Given the description of an element on the screen output the (x, y) to click on. 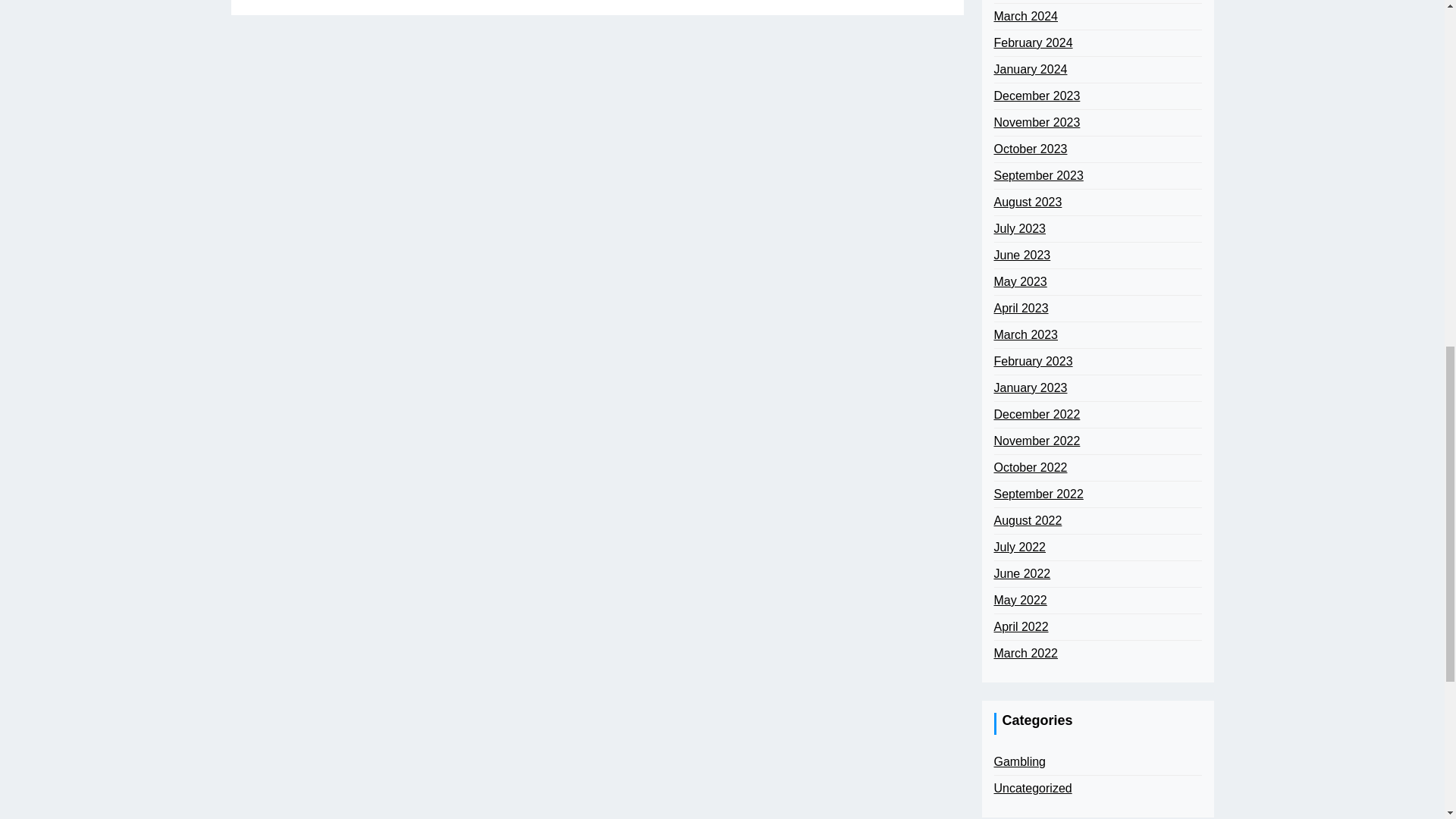
October 2023 (1029, 149)
June 2023 (1020, 255)
March 2024 (1025, 16)
November 2023 (1036, 122)
March 2023 (1025, 334)
January 2024 (1029, 69)
September 2023 (1037, 176)
December 2023 (1036, 95)
July 2023 (1018, 229)
April 2023 (1020, 308)
May 2023 (1019, 281)
February 2024 (1031, 43)
August 2023 (1026, 202)
